Given the description of an element on the screen output the (x, y) to click on. 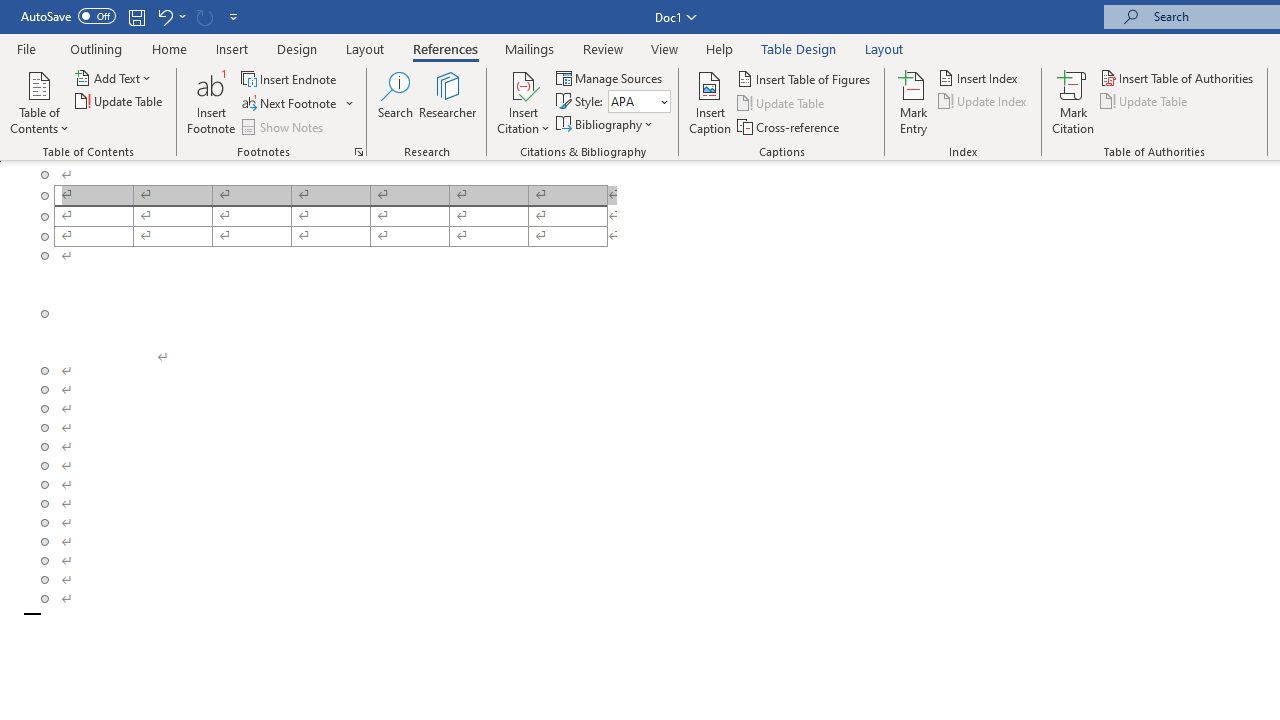
Show Notes (284, 126)
Undo Outline Move Up (164, 15)
Cross-reference... (789, 126)
Insert Table of Figures... (804, 78)
Mark Citation... (1072, 102)
Mark Entry... (913, 102)
Researcher (447, 102)
Footnote and Endnote Dialog... (358, 151)
Next Footnote (298, 103)
